Given the description of an element on the screen output the (x, y) to click on. 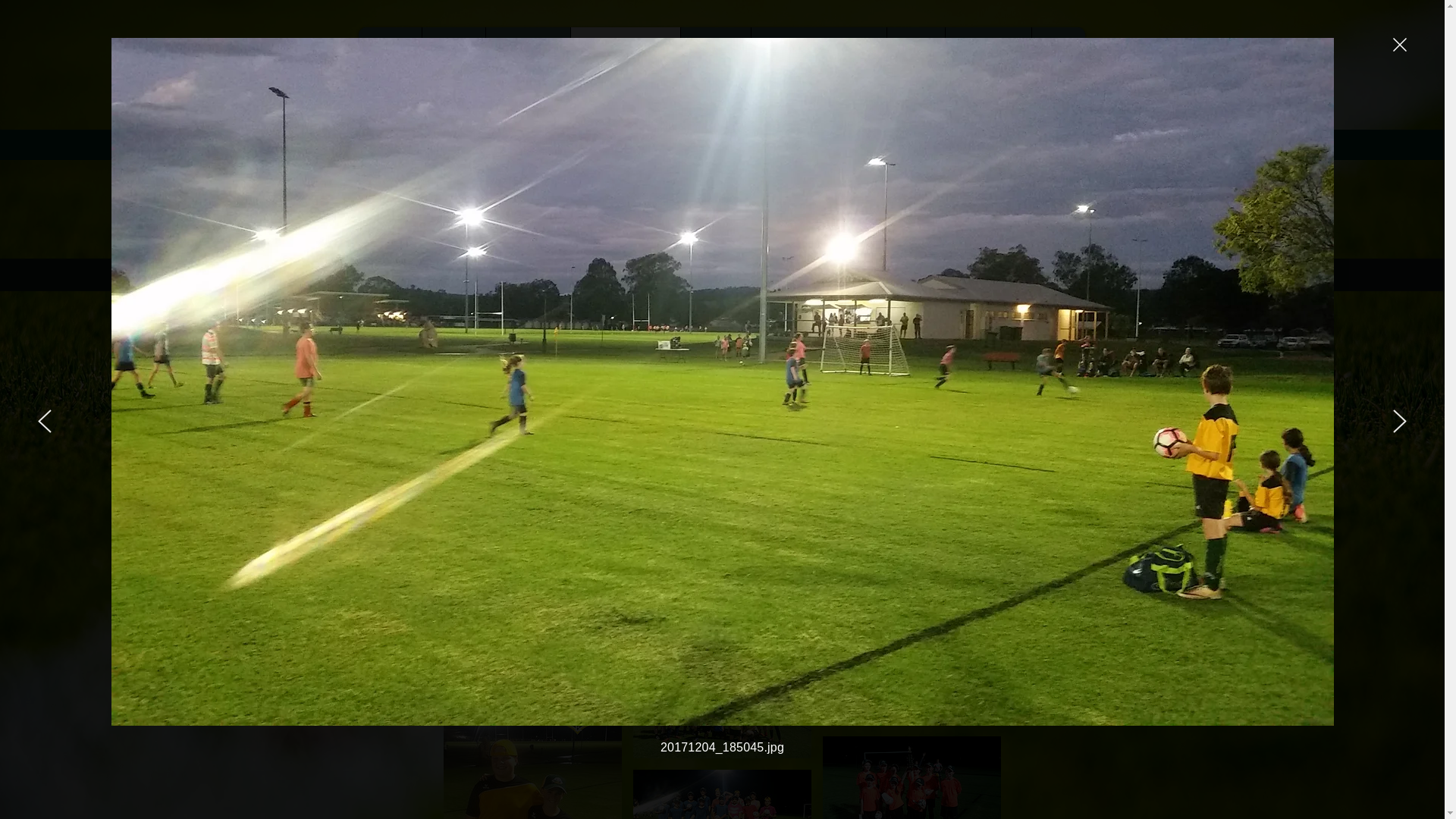
FIXTURES Element type: text (987, 54)
FEES Element type: text (915, 54)
NEWS Element type: text (452, 54)
FFA INFORMATION Element type: text (817, 54)
CONTACT Element type: text (527, 54)
HOME Element type: text (388, 54)
FAN GALLERY Element type: text (624, 54)
FORMS Element type: text (715, 54)
